Given the description of an element on the screen output the (x, y) to click on. 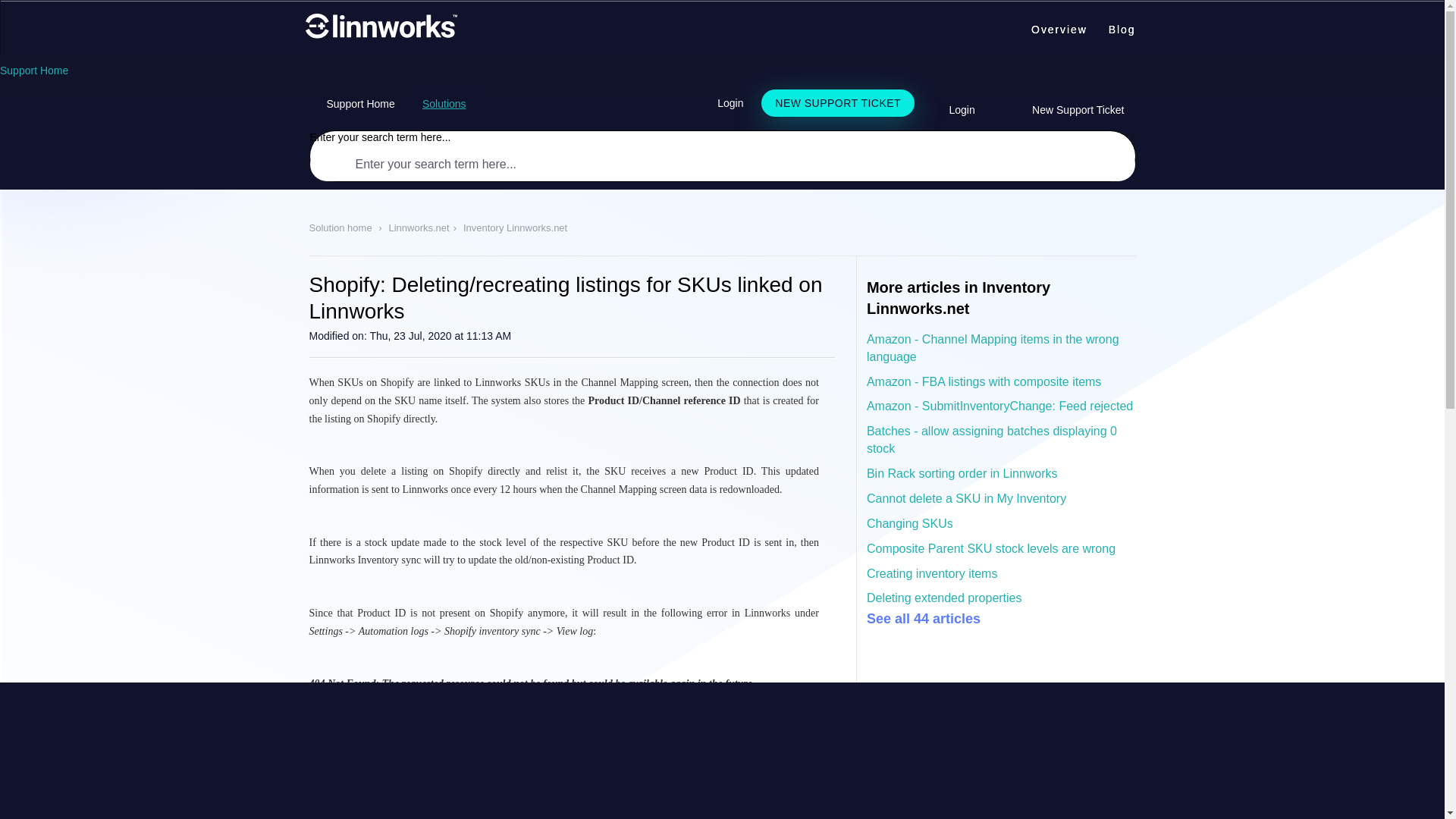
NEW SUPPORT TICKET (837, 103)
Support Home (34, 70)
Amazon - SubmitInventoryChange: Feed rejected (999, 405)
Overview (1058, 29)
New Support Ticket (1077, 110)
Bin Rack sorting order in Linnworks (962, 472)
Login (729, 102)
Creating inventory items (931, 573)
Support Home (357, 104)
Amazon - Channel Mapping items in the wrong language (992, 347)
